Given the description of an element on the screen output the (x, y) to click on. 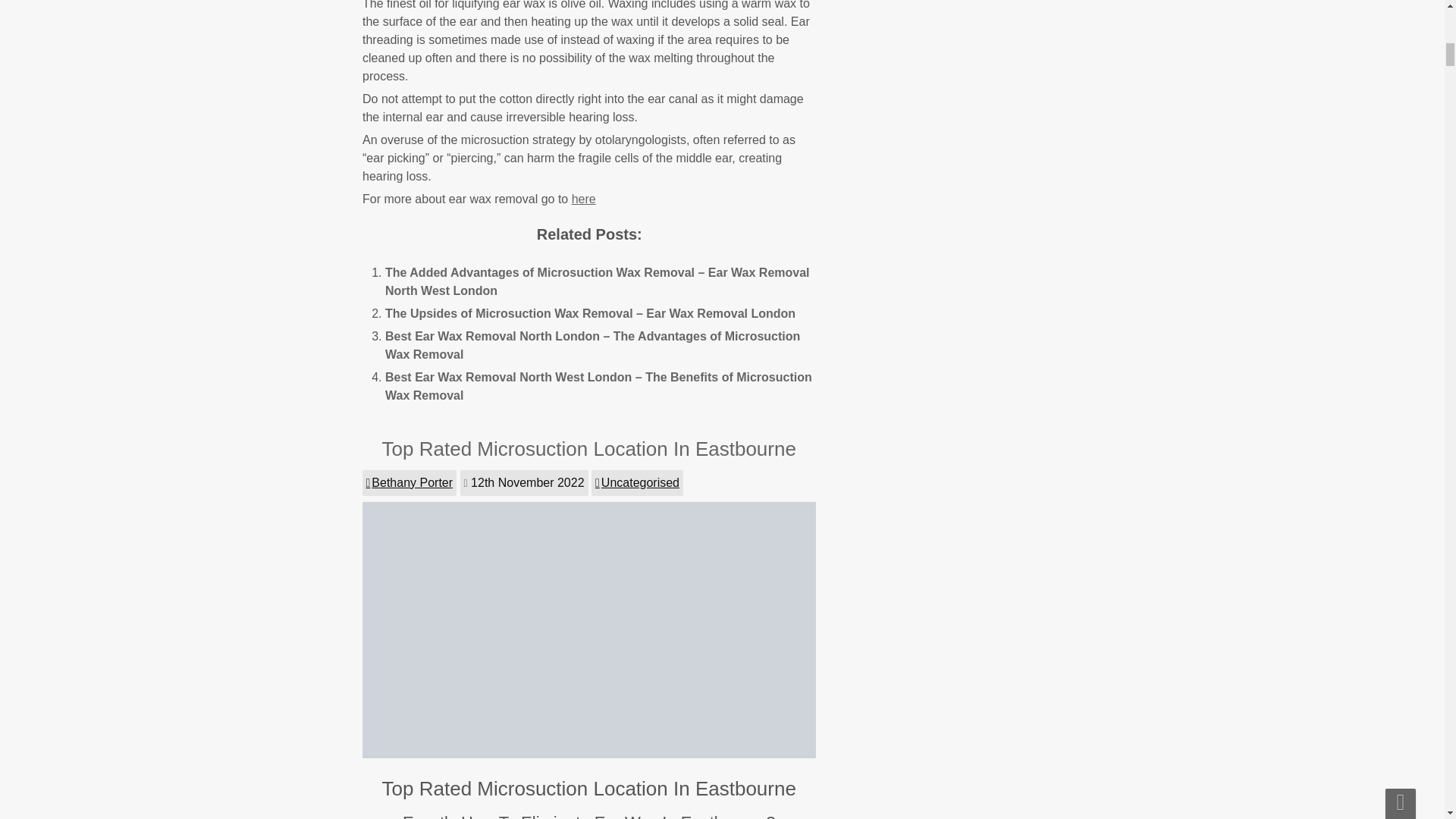
Top Rated Microsuction Location In Eastbourne (588, 448)
Bethany Porter (409, 483)
Top Rated Microsuction Location In Eastbourne (588, 448)
Posts by Bethany Porter (409, 483)
Top Rated Microsuction Location In Eastbourne (589, 752)
Uncategorised (636, 483)
